Given the description of an element on the screen output the (x, y) to click on. 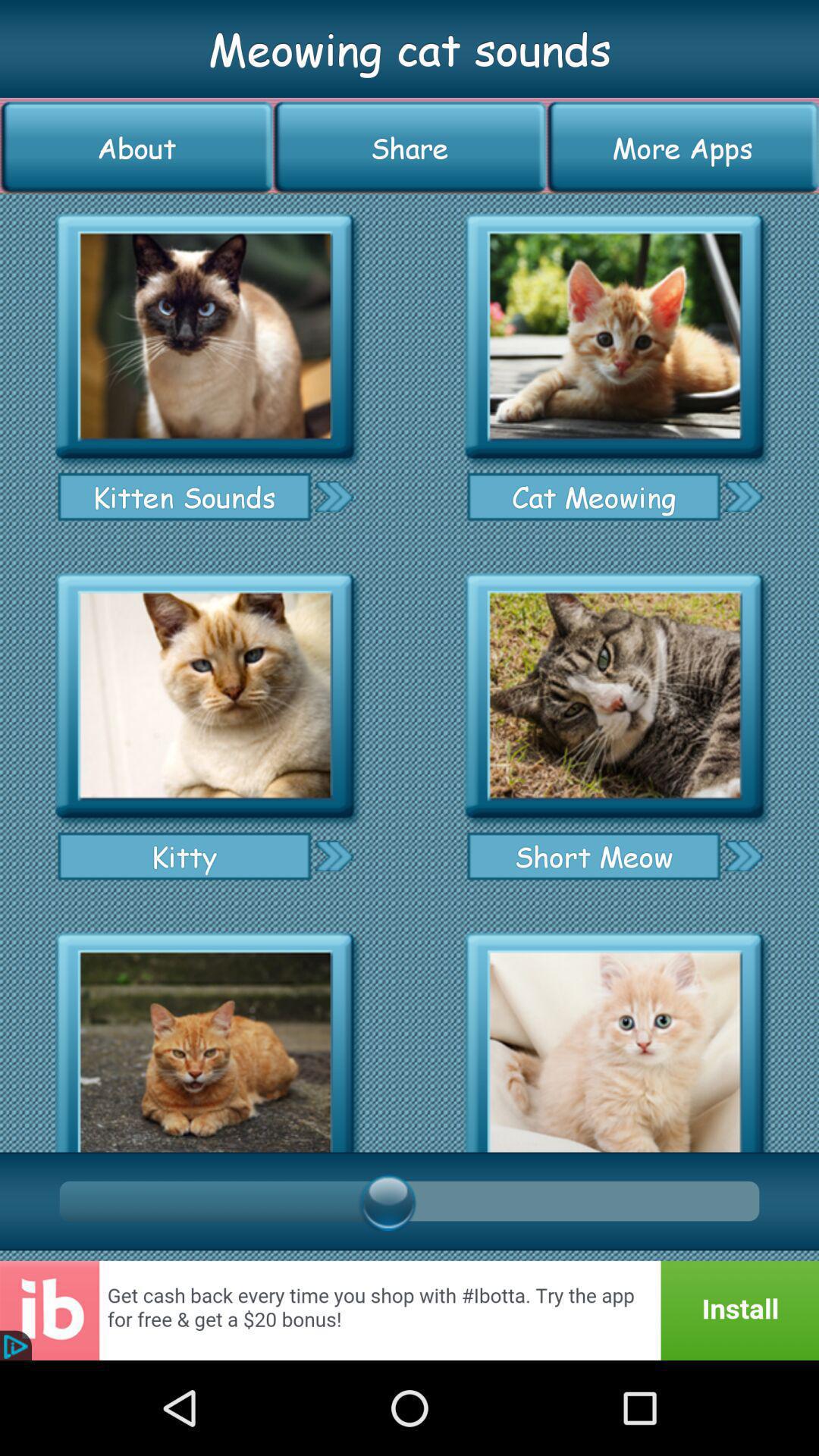
hear kitten sounds (204, 336)
